Given the description of an element on the screen output the (x, y) to click on. 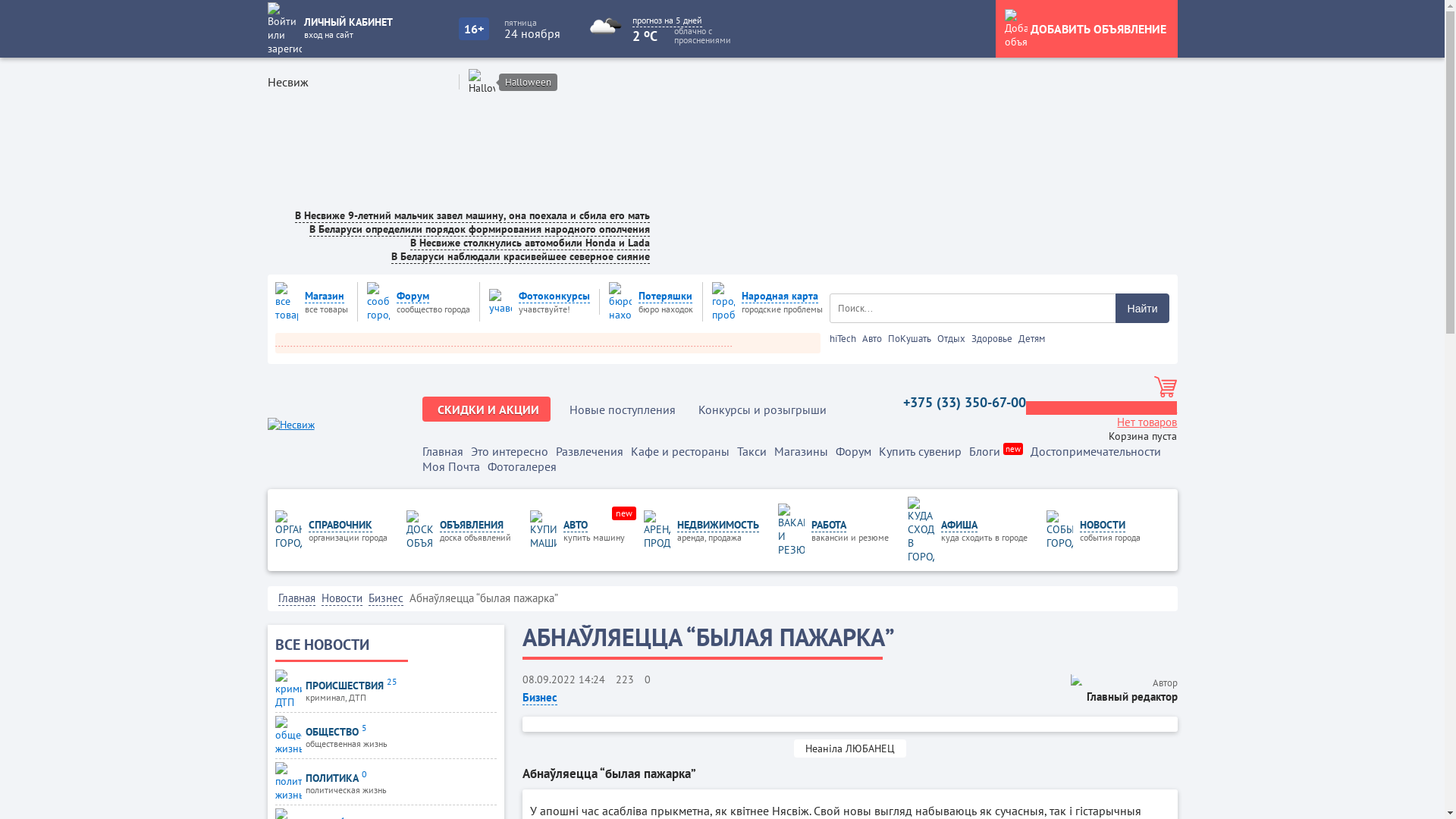
Halloween Element type: text (527, 81)
hiTech Element type: text (842, 338)
